Given the description of an element on the screen output the (x, y) to click on. 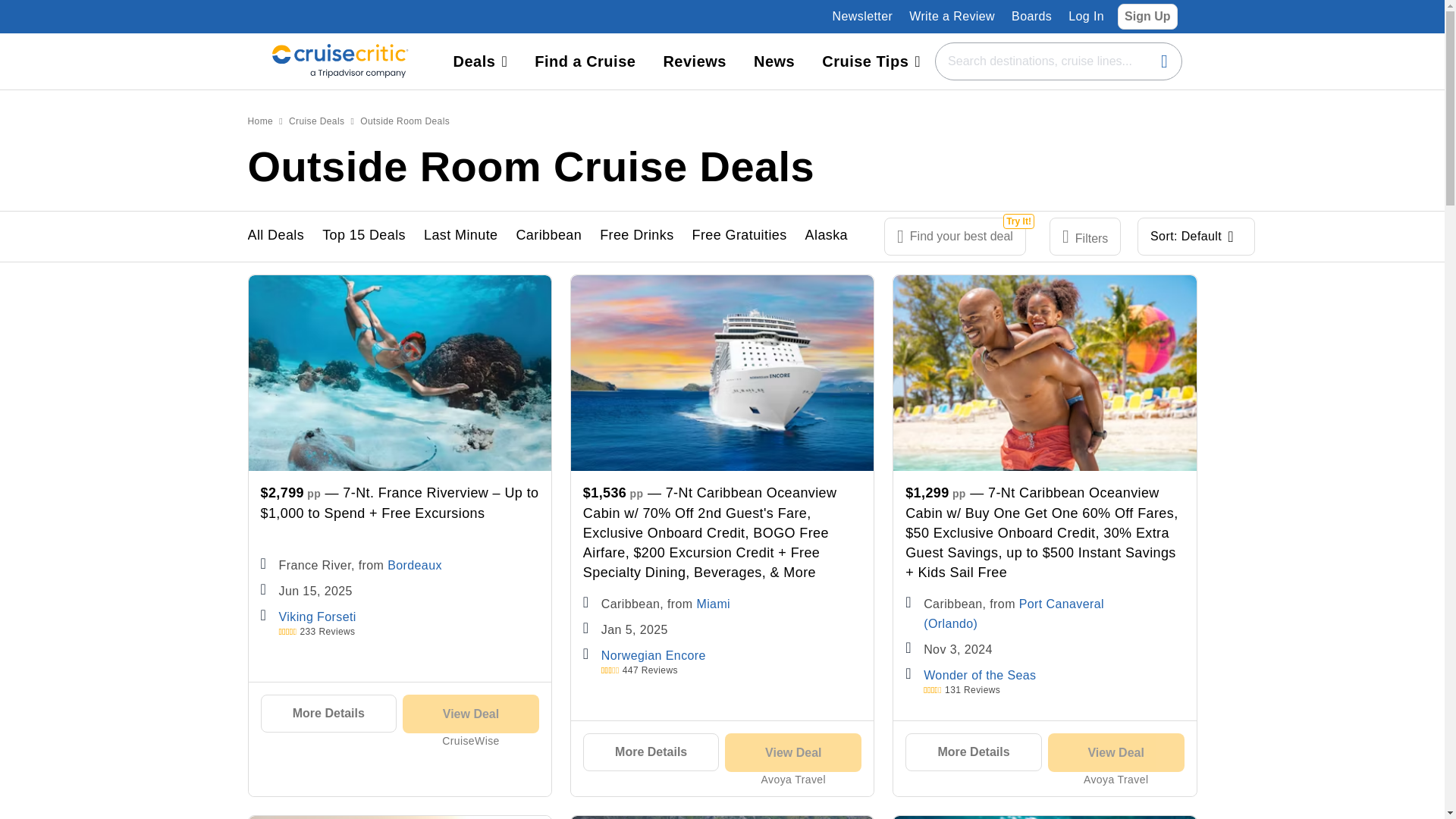
Newsletter (862, 16)
Sign Up (1147, 15)
Cruise Deals (316, 120)
Cruise Tips (871, 61)
Sign Up (1147, 16)
Last Minute (460, 236)
Outside Room Deals (404, 120)
Home (260, 120)
Alaska (826, 236)
Deals (480, 61)
All Deals (275, 236)
Caribbean (547, 236)
Free Gratuities (740, 236)
Log In (1085, 16)
Top 15 Deals (363, 236)
